Given the description of an element on the screen output the (x, y) to click on. 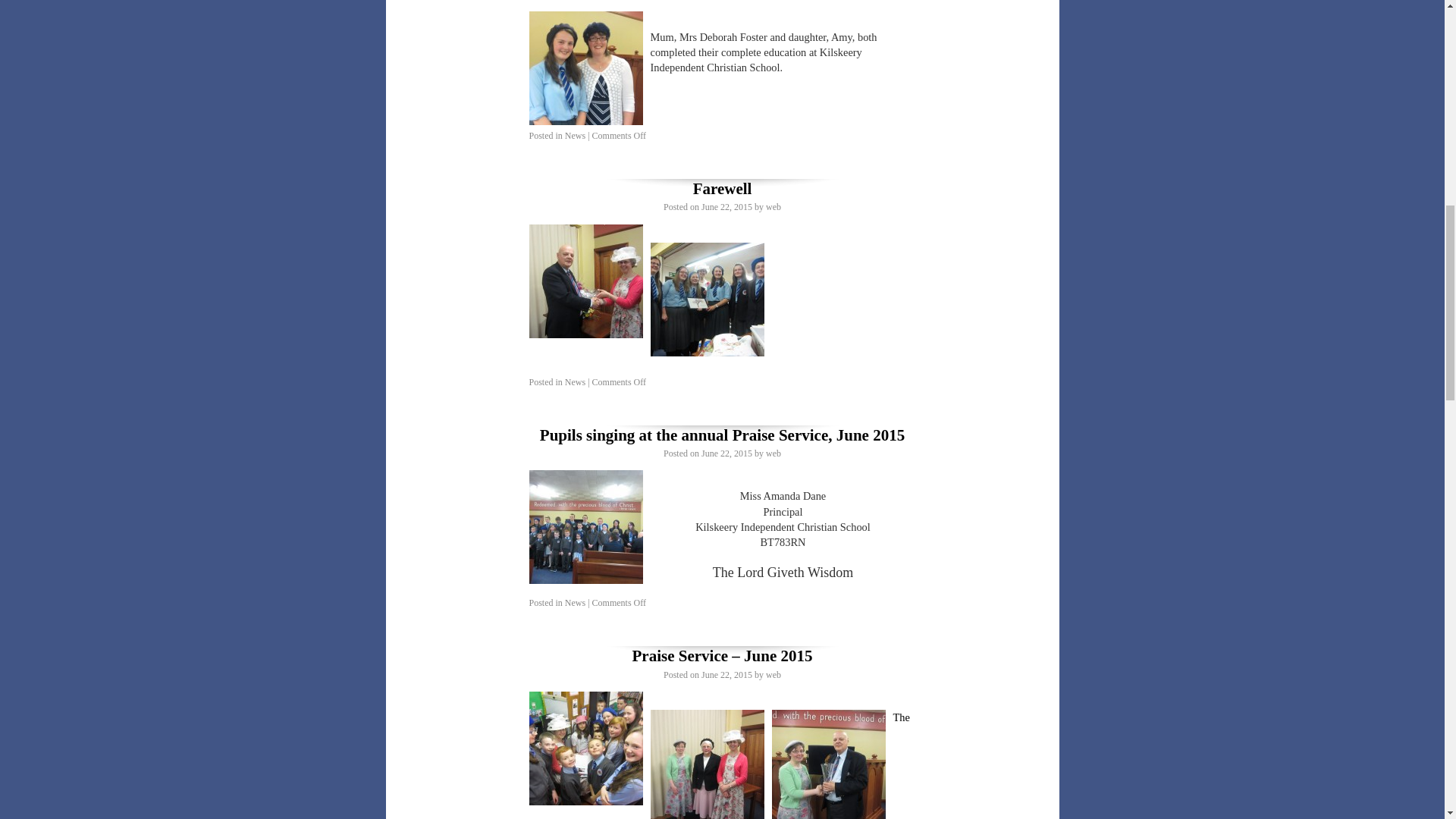
Pupils singing at the annual Praise Service, June 2015 (722, 434)
News (574, 135)
web (772, 206)
June 22, 2015 (726, 206)
News (574, 381)
Farewell (722, 188)
